Given the description of an element on the screen output the (x, y) to click on. 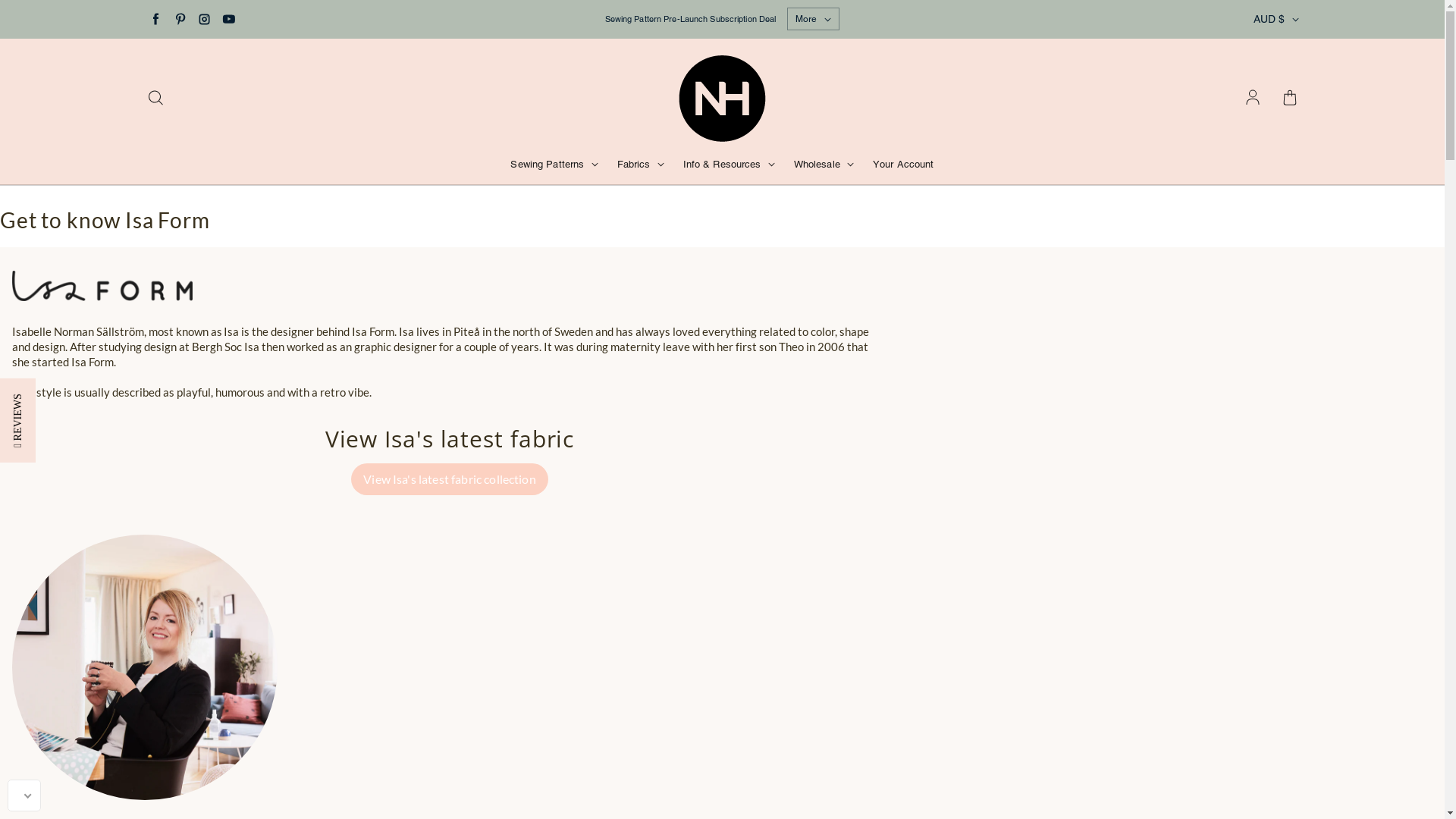
More Element type: text (813, 18)
Log in Element type: text (1252, 98)
AUD $ Element type: text (1275, 18)
View Isa's latest fabric collection Element type: text (449, 479)
Facebook Element type: text (154, 18)
Sewing Patterns Element type: text (553, 164)
Instagram Element type: text (203, 18)
Skip to content Element type: text (0, 0)
Wholesale Element type: text (823, 164)
Pinterest Element type: text (178, 18)
Your Account Element type: text (903, 164)
Info & Resources Element type: text (729, 164)
YouTube Element type: text (228, 18)
Fabrics Element type: text (640, 164)
